Given the description of an element on the screen output the (x, y) to click on. 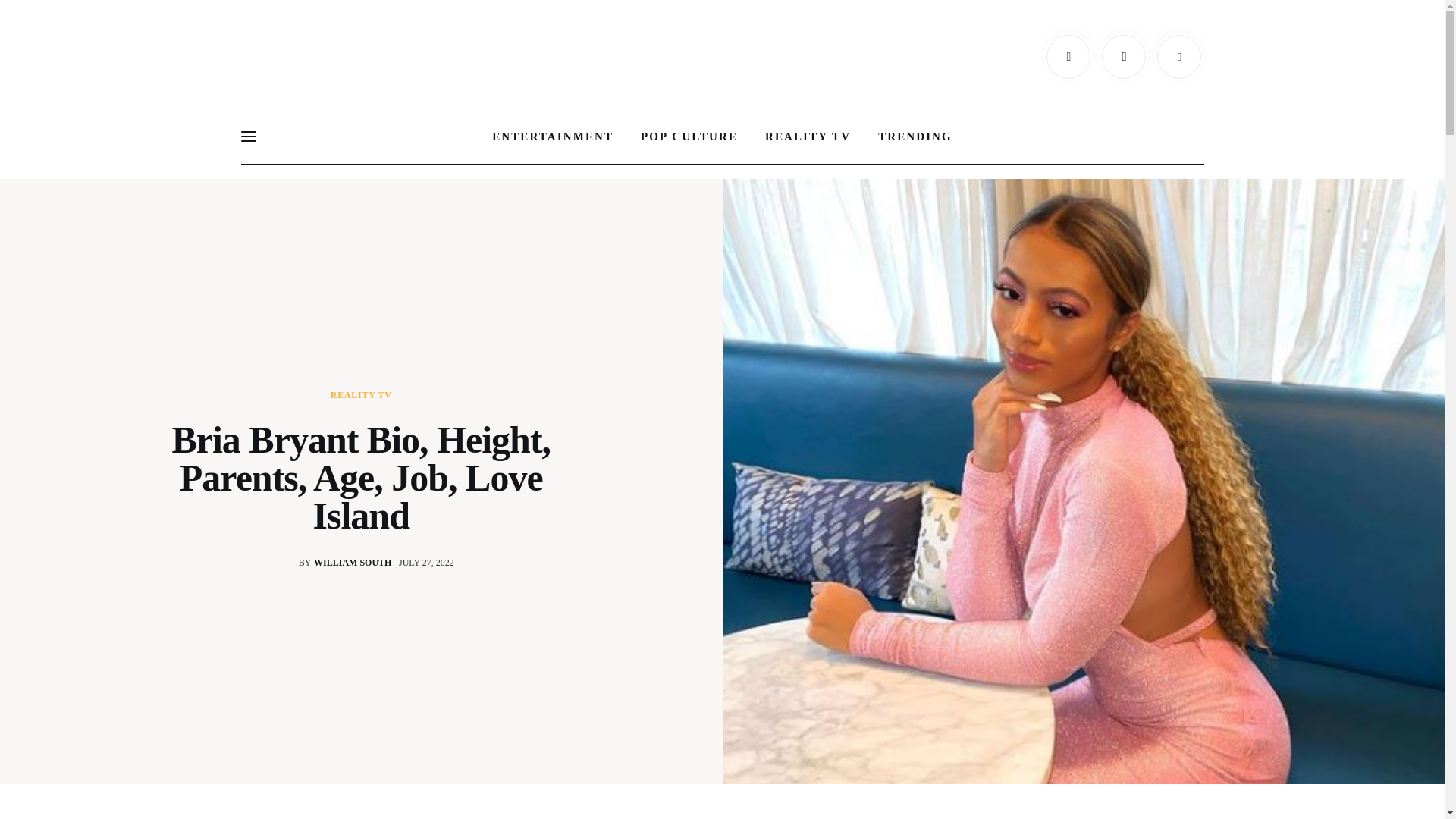
POP CULTURE (689, 137)
TRENDING (915, 137)
REALITY TV (360, 394)
REALITY TV (807, 137)
ENTERTAINMENT (332, 562)
